Given the description of an element on the screen output the (x, y) to click on. 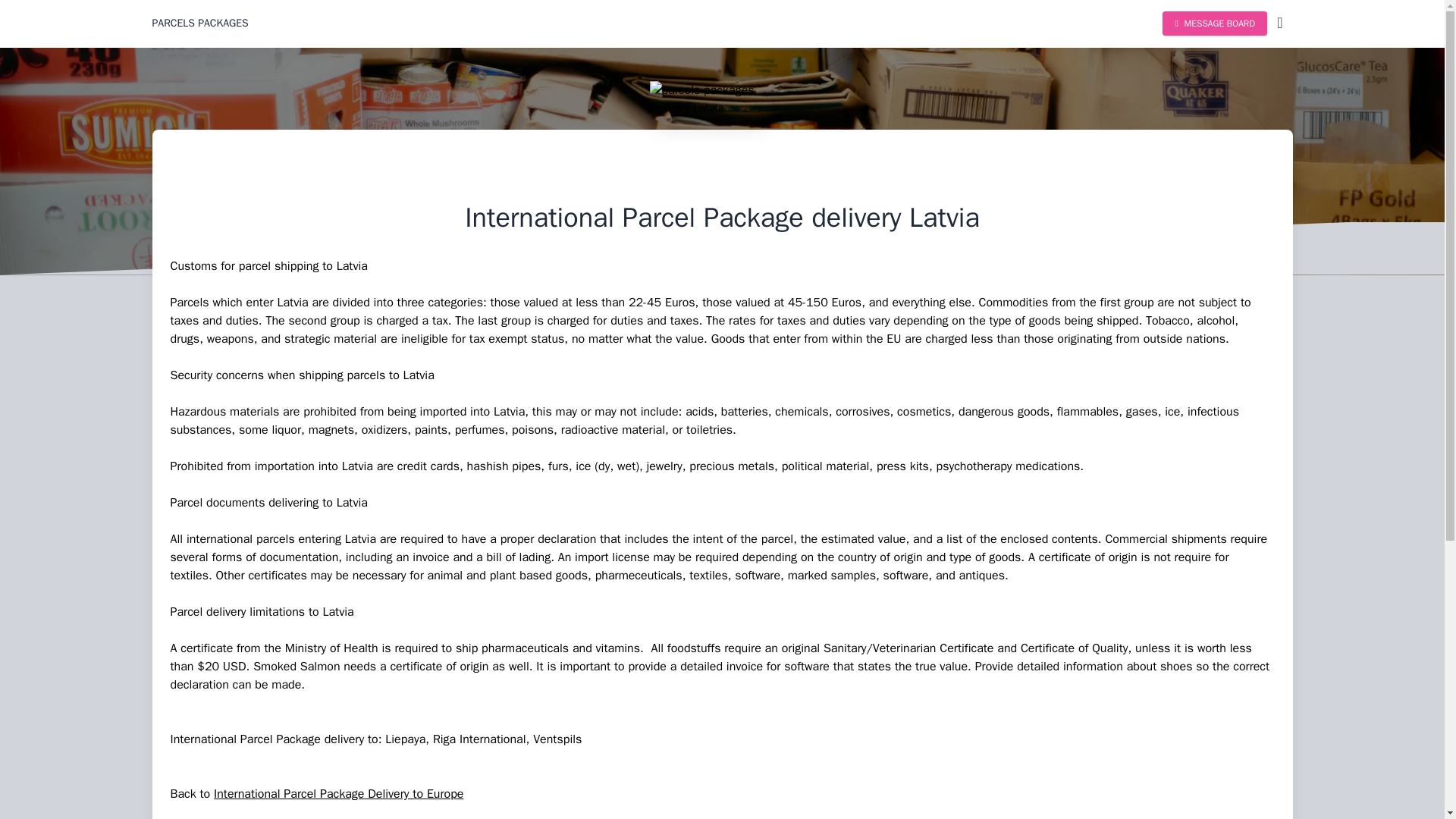
International Parcel Package Delivery to Europe (338, 793)
PARCELS PACKAGES (199, 23)
MESSAGE BOARD (1213, 23)
